Given the description of an element on the screen output the (x, y) to click on. 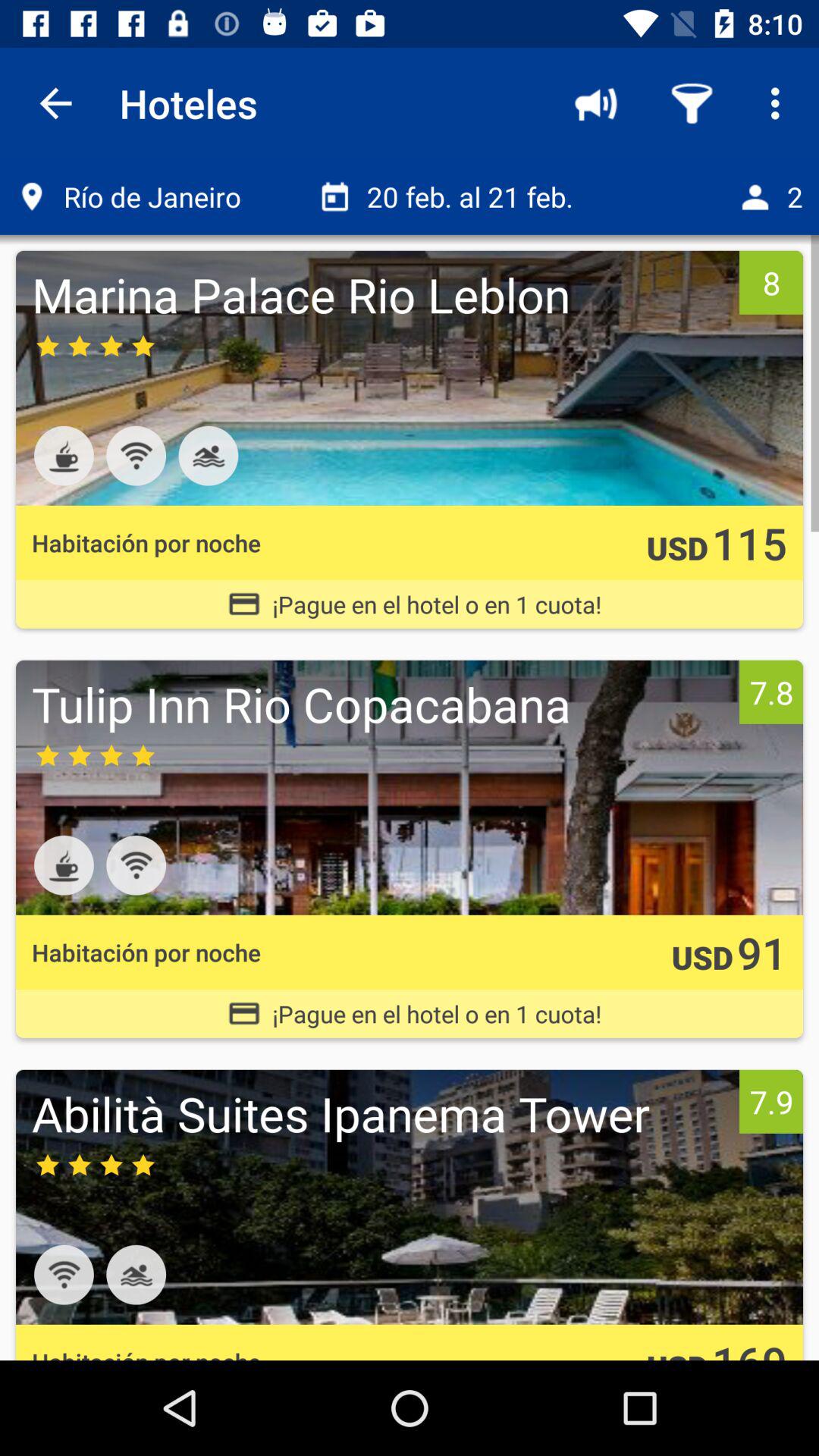
select the item to the right of the hoteles item (595, 103)
